Given the description of an element on the screen output the (x, y) to click on. 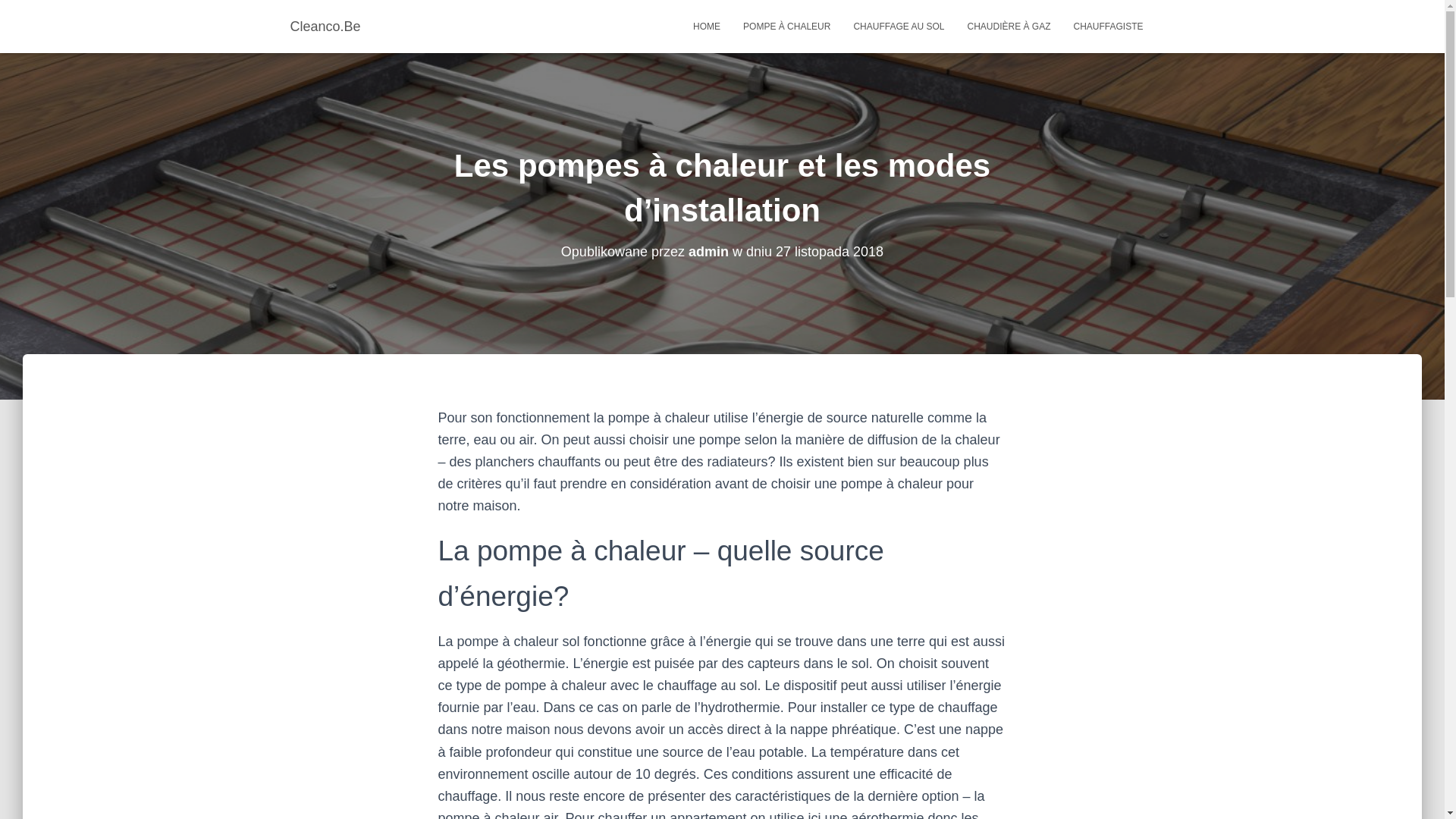
CHAUFFAGISTE Element type: text (1107, 26)
HOME Element type: text (706, 26)
Cleanco.Be Element type: text (325, 26)
CHAUFFAGE AU SOL Element type: text (898, 26)
admin Element type: text (708, 251)
